Given the description of an element on the screen output the (x, y) to click on. 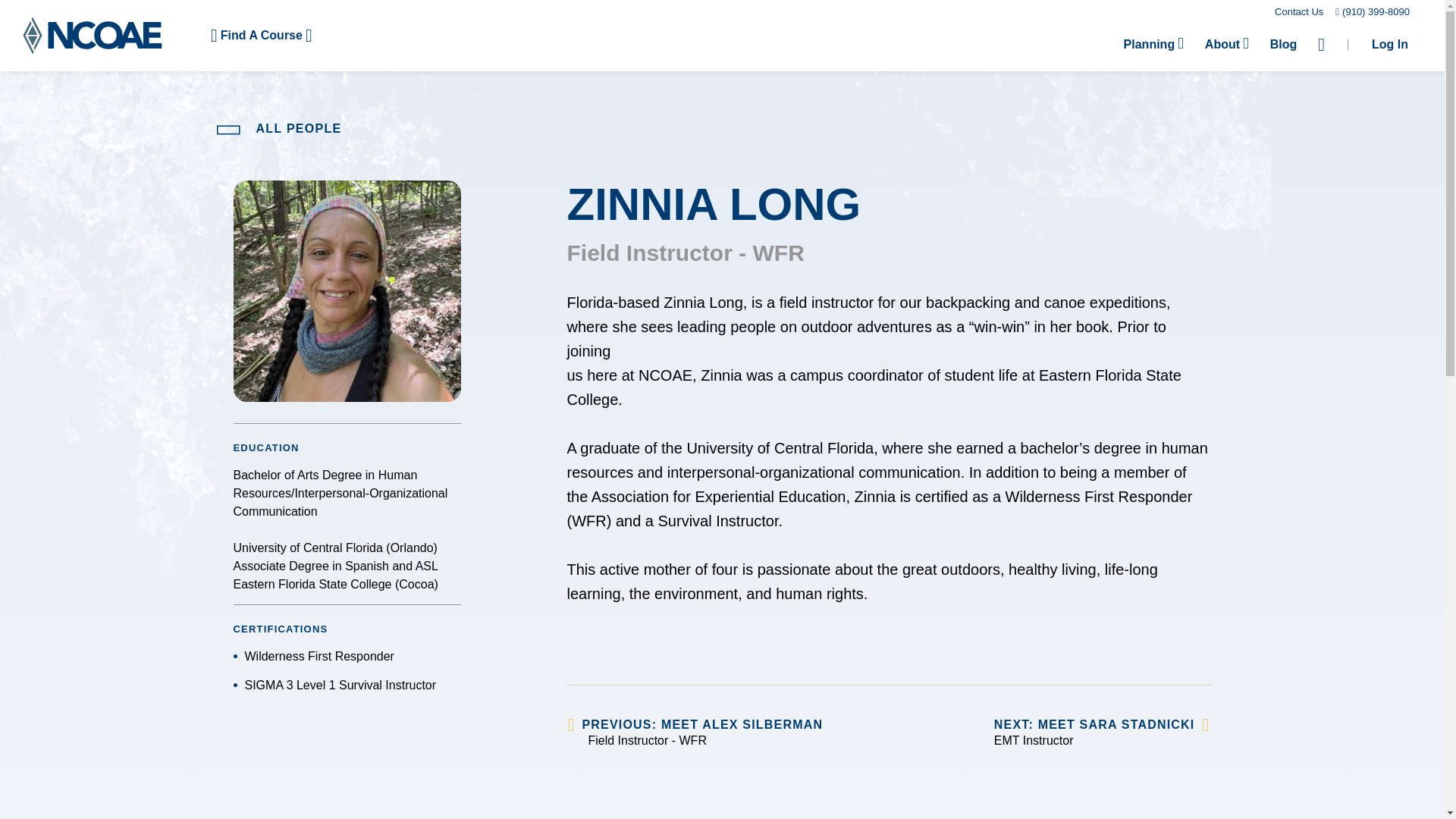
Planning (1153, 44)
Contact Us (1299, 11)
Find A Course (261, 35)
